Given the description of an element on the screen output the (x, y) to click on. 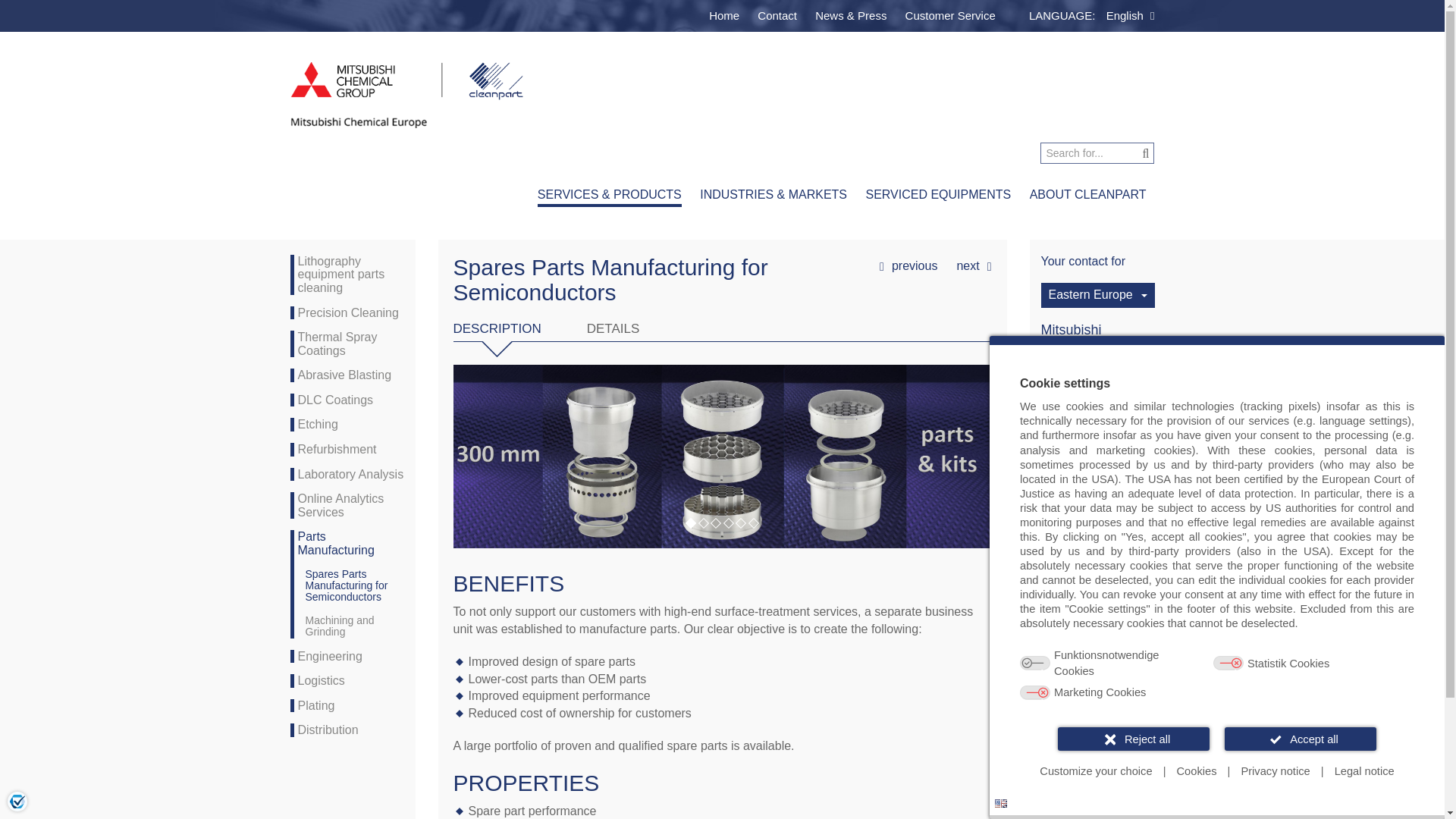
Customize your choice (1095, 771)
Contact (776, 15)
Home (724, 15)
Purpose (1216, 675)
Cookies (1196, 771)
ABOUT CLEANPART (1088, 196)
Legal notice (1364, 771)
Language: en (1000, 803)
SERVICED EQUIPMENTS (937, 196)
Privacy notice (1275, 771)
Reject all (1133, 739)
Accept all (1299, 739)
Language: en (1000, 803)
English (1124, 15)
Privacy settings (17, 801)
